Given the description of an element on the screen output the (x, y) to click on. 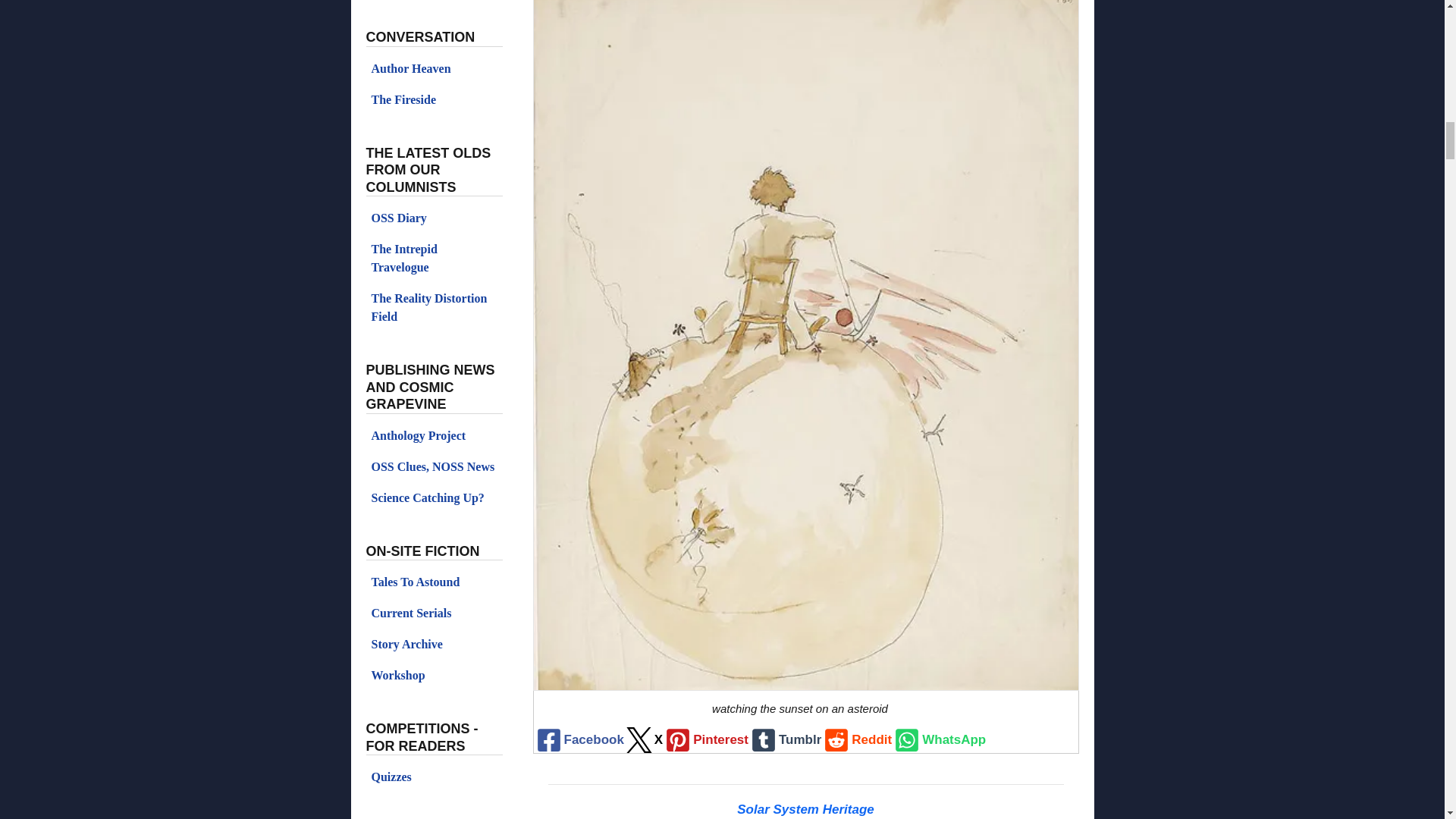
Solar System Heritage (804, 809)
Tumblr (784, 740)
X (643, 740)
Pinterest (705, 740)
Reddit (856, 740)
WhatsApp (938, 740)
Facebook (579, 740)
